Given the description of an element on the screen output the (x, y) to click on. 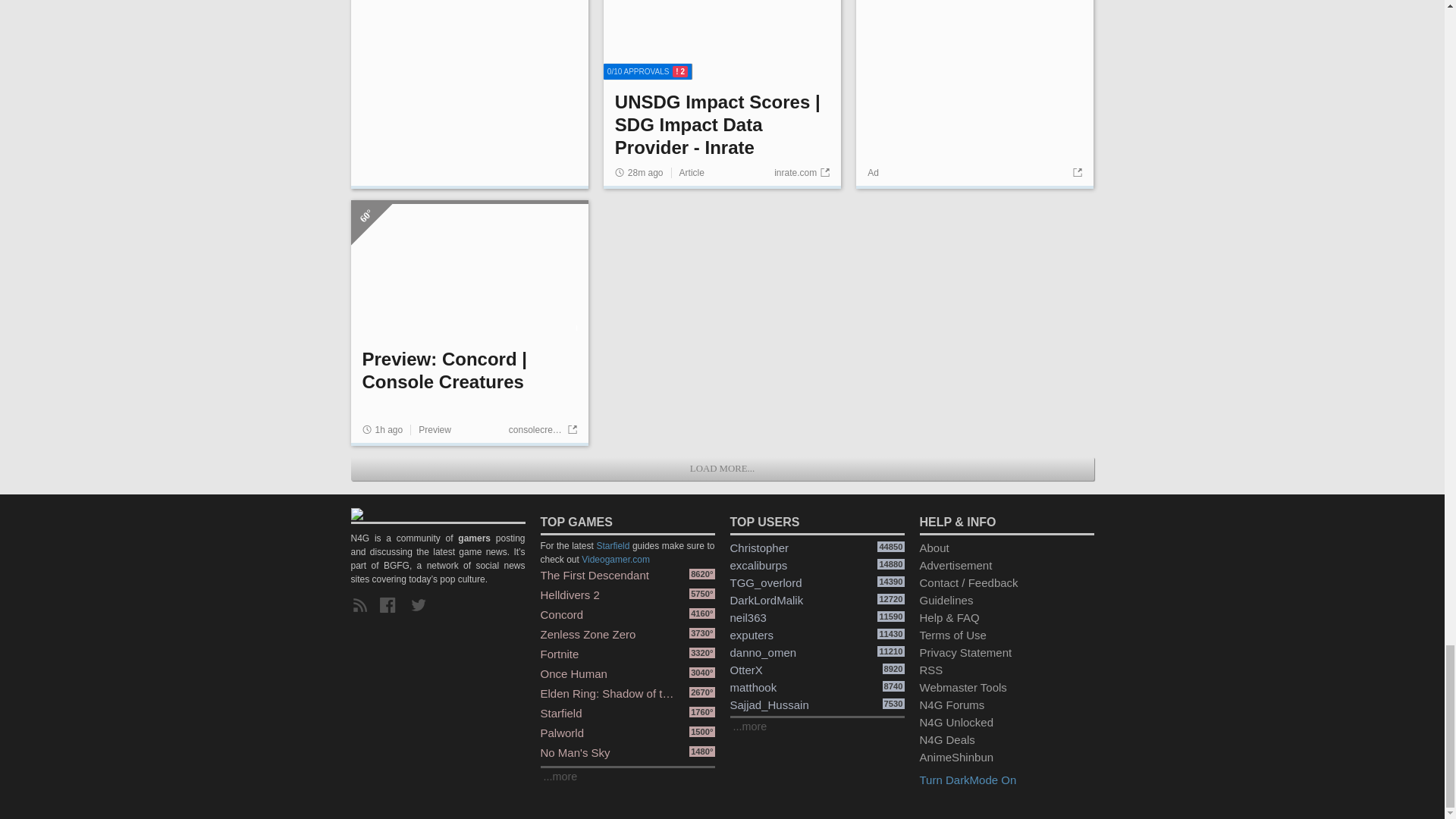
Our twitter page (421, 605)
Go to source: inrate.com (801, 172)
RSS Feed (362, 605)
Go to source: consolecreatures.com (542, 429)
Our facebook page (390, 605)
Go to source (1074, 172)
